Given the description of an element on the screen output the (x, y) to click on. 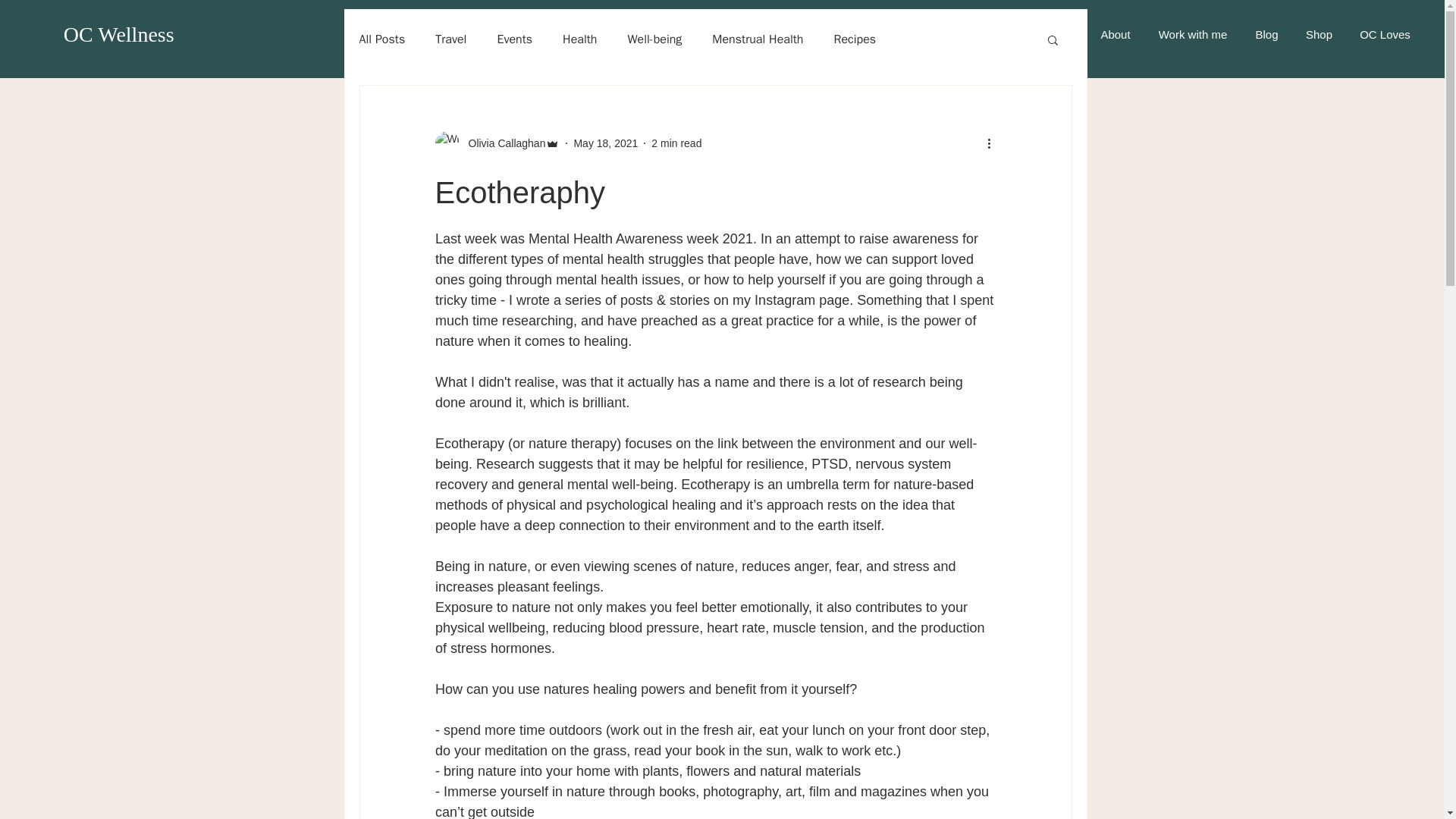
Home (1056, 34)
Shop (1318, 34)
About (1115, 34)
Menstrual Health (757, 39)
All Posts (382, 39)
Olivia Callaghan (503, 142)
Travel (450, 39)
OC Loves (1384, 34)
May 18, 2021 (605, 142)
2 min read (675, 142)
